Given the description of an element on the screen output the (x, y) to click on. 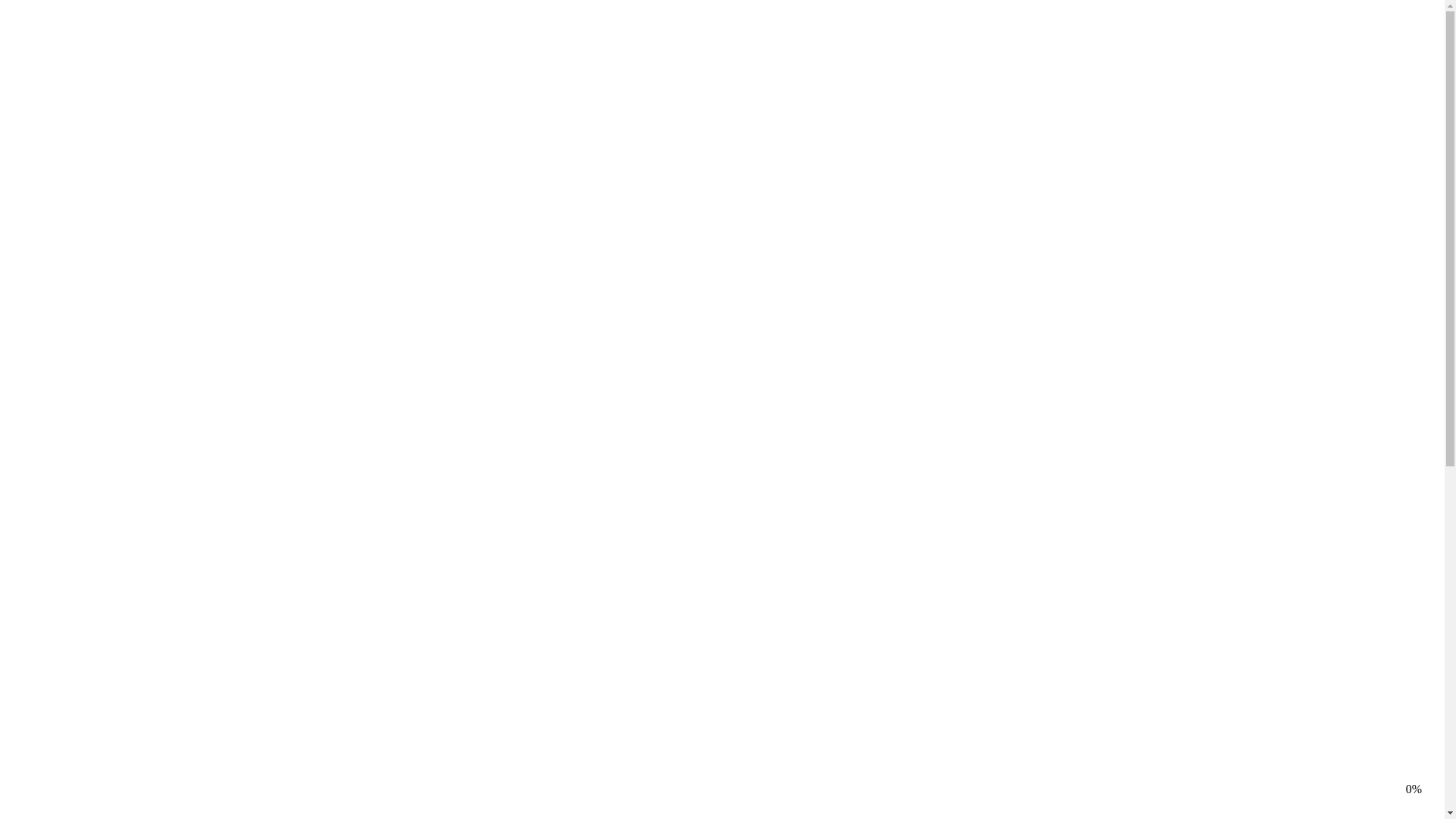
Events Element type: text (52, 51)
Club Element type: text (17, 516)
Blog Element type: text (47, 78)
Buy Vice Element type: text (316, 442)
Add all tracks to playlist Element type: text (65, 731)
Russian Mix Element type: text (737, 416)
320kbps Element type: text (26, 654)
Music Element type: text (51, 65)
Clubber Element type: text (737, 300)
128kbps Element type: text (26, 705)
Home Element type: text (50, 37)
